Given the description of an element on the screen output the (x, y) to click on. 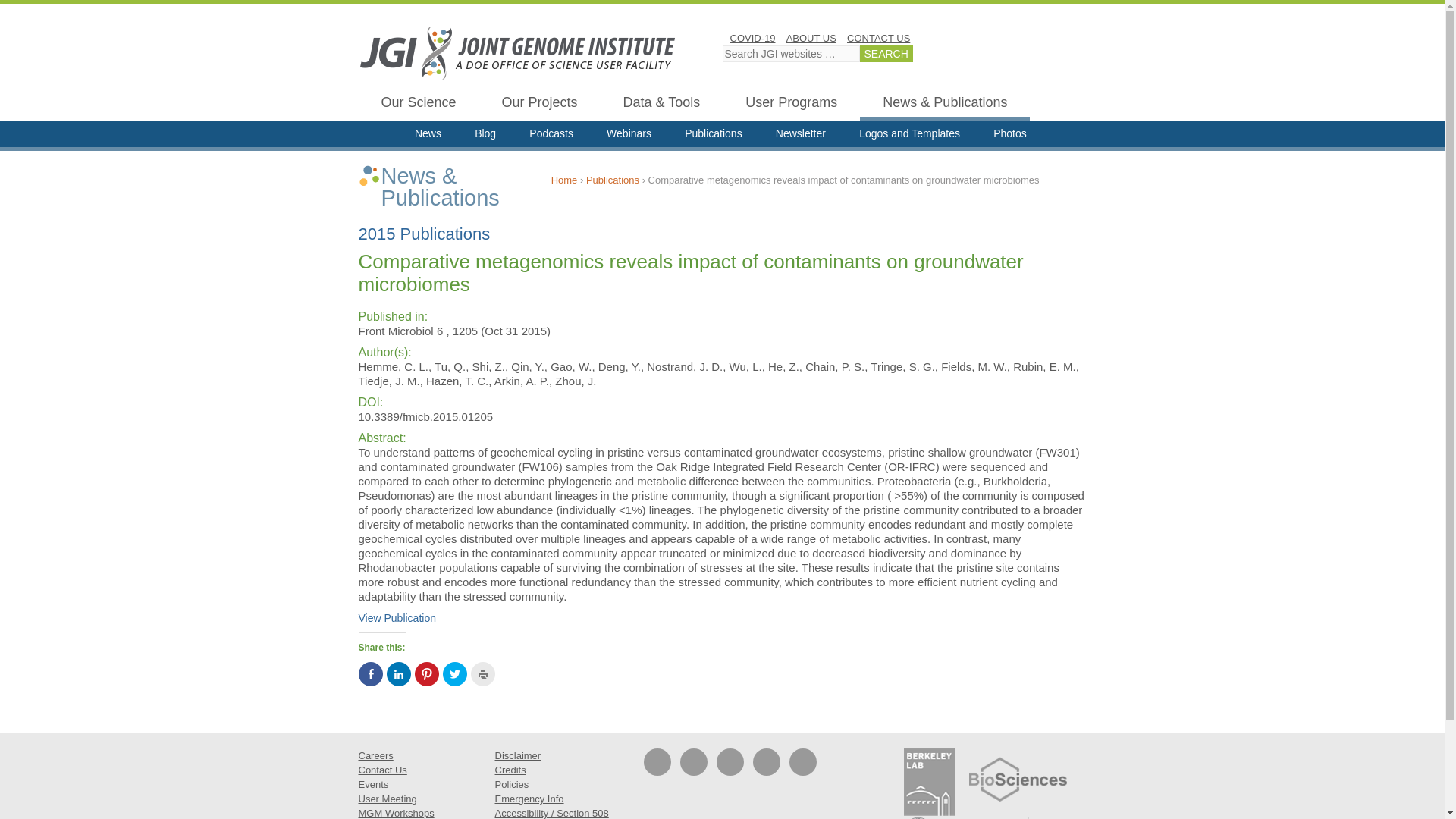
COVID-19 (751, 38)
DOE Joint Genome Institute (517, 52)
Our Projects (539, 104)
Our Science (418, 104)
Click to share on Facebook (369, 673)
Search (886, 53)
Click to share on Pinterest (425, 673)
Click to share on Twitter (454, 673)
ABOUT US (810, 38)
Search (886, 53)
